Given the description of an element on the screen output the (x, y) to click on. 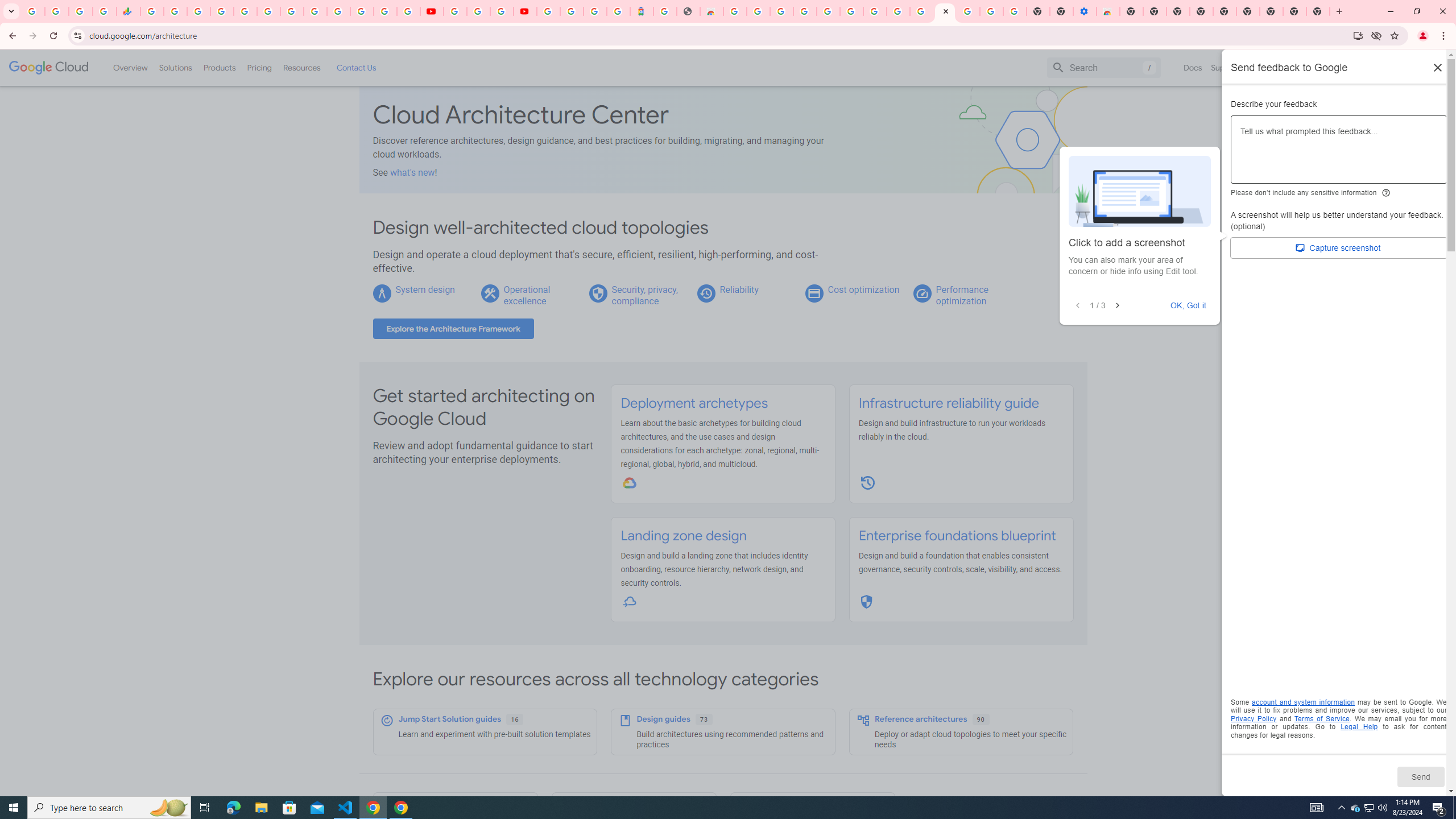
Chrome Web Store - Accessibility extensions (1108, 11)
Chrome Web Store - Household (711, 11)
Landing zone design (683, 535)
Third-party cookies blocked (1376, 35)
YouTube (454, 11)
Google Account Help (992, 11)
Install Google Cloud (1358, 35)
Sign in - Google Accounts (571, 11)
Cost optimization (863, 289)
Products (218, 67)
Describe your feedback (1338, 153)
